Given the description of an element on the screen output the (x, y) to click on. 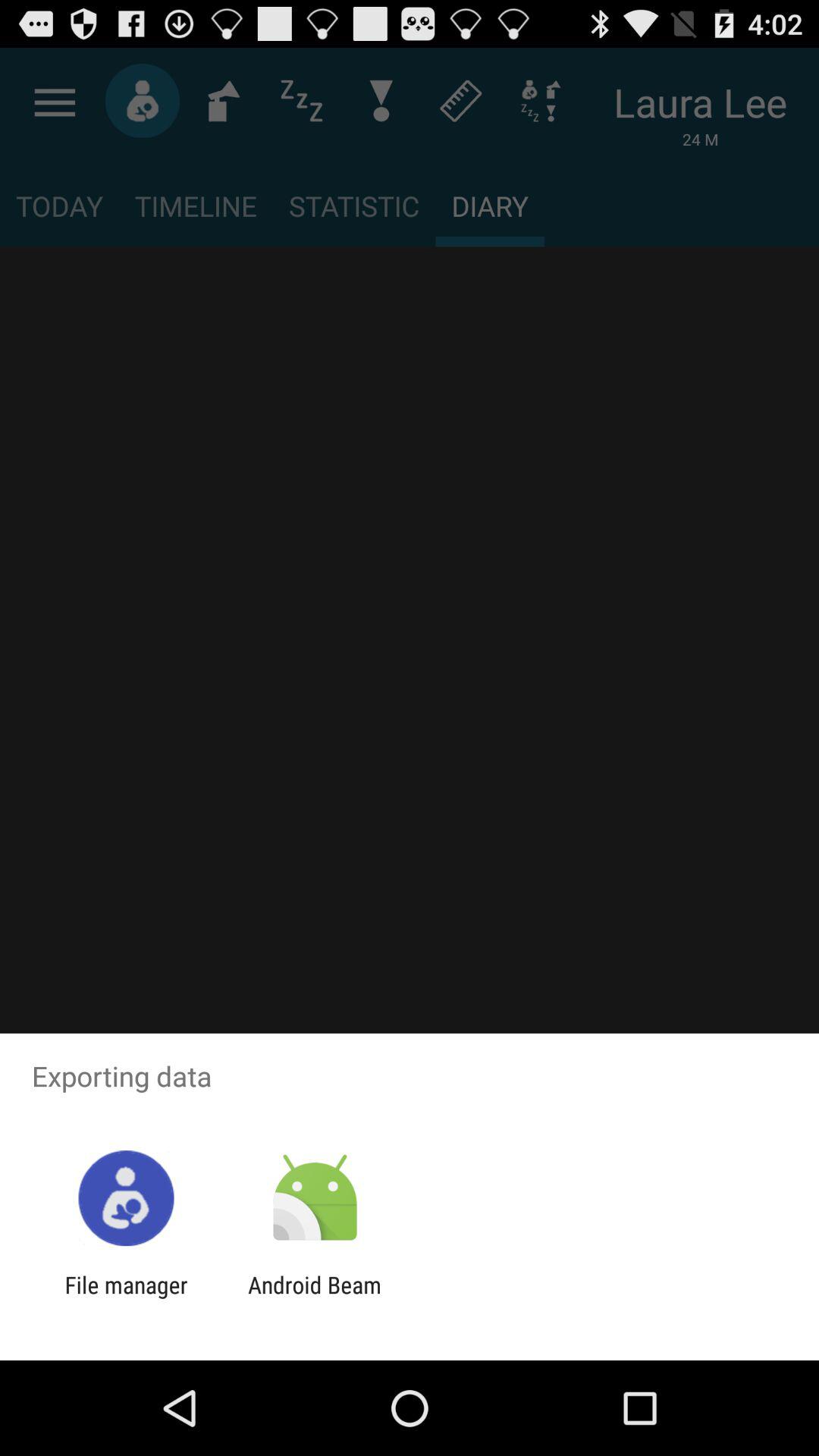
turn off app to the left of the android beam (125, 1298)
